Given the description of an element on the screen output the (x, y) to click on. 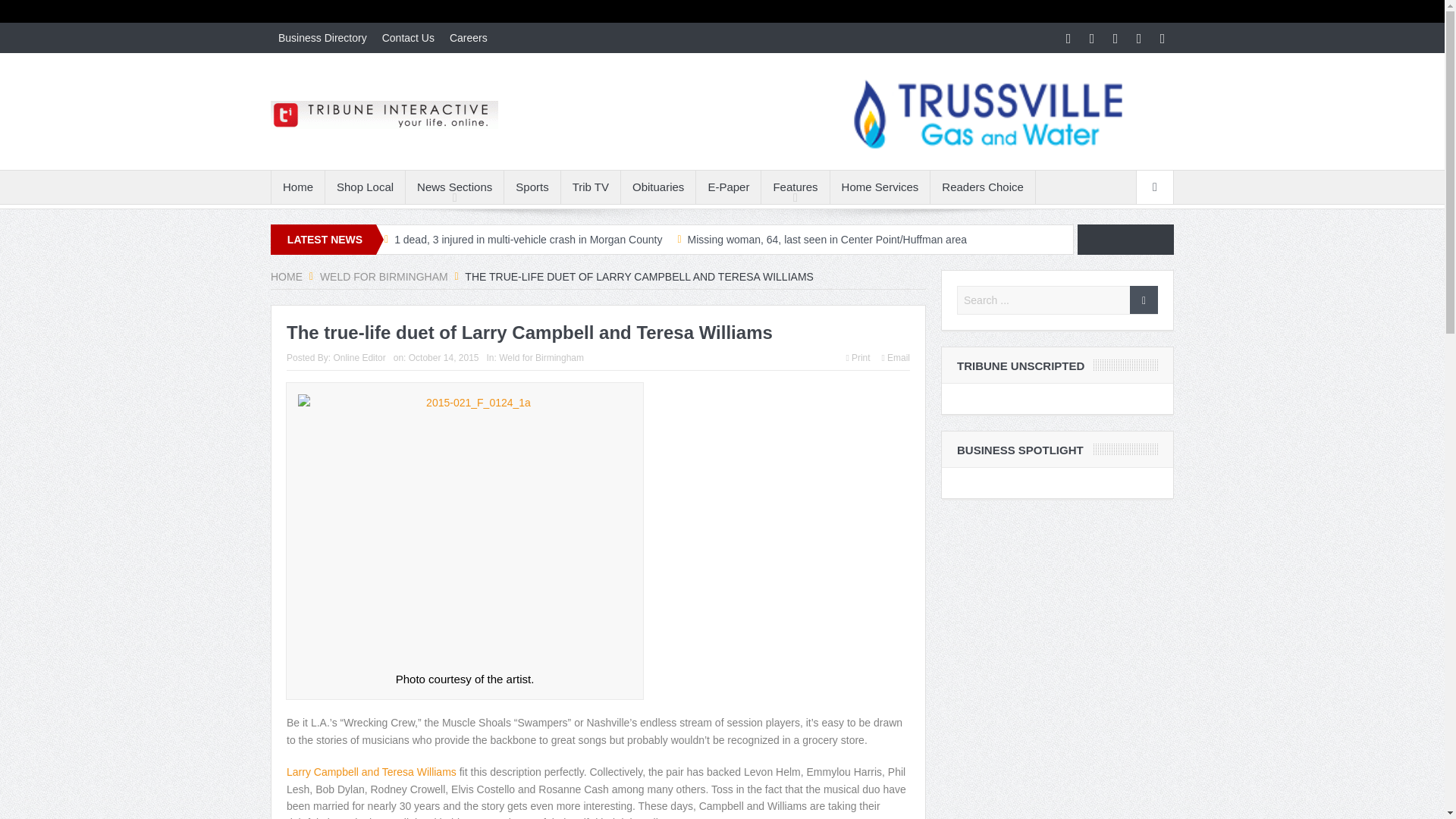
News Sections (454, 186)
Contact Us (408, 37)
Home (297, 186)
Business Directory (322, 37)
Careers (468, 37)
View all posts in Weld for Birmingham (541, 357)
Obituaries (658, 186)
Home Services (879, 186)
Weld for Birmingham (384, 276)
Trib TV (590, 186)
